Given the description of an element on the screen output the (x, y) to click on. 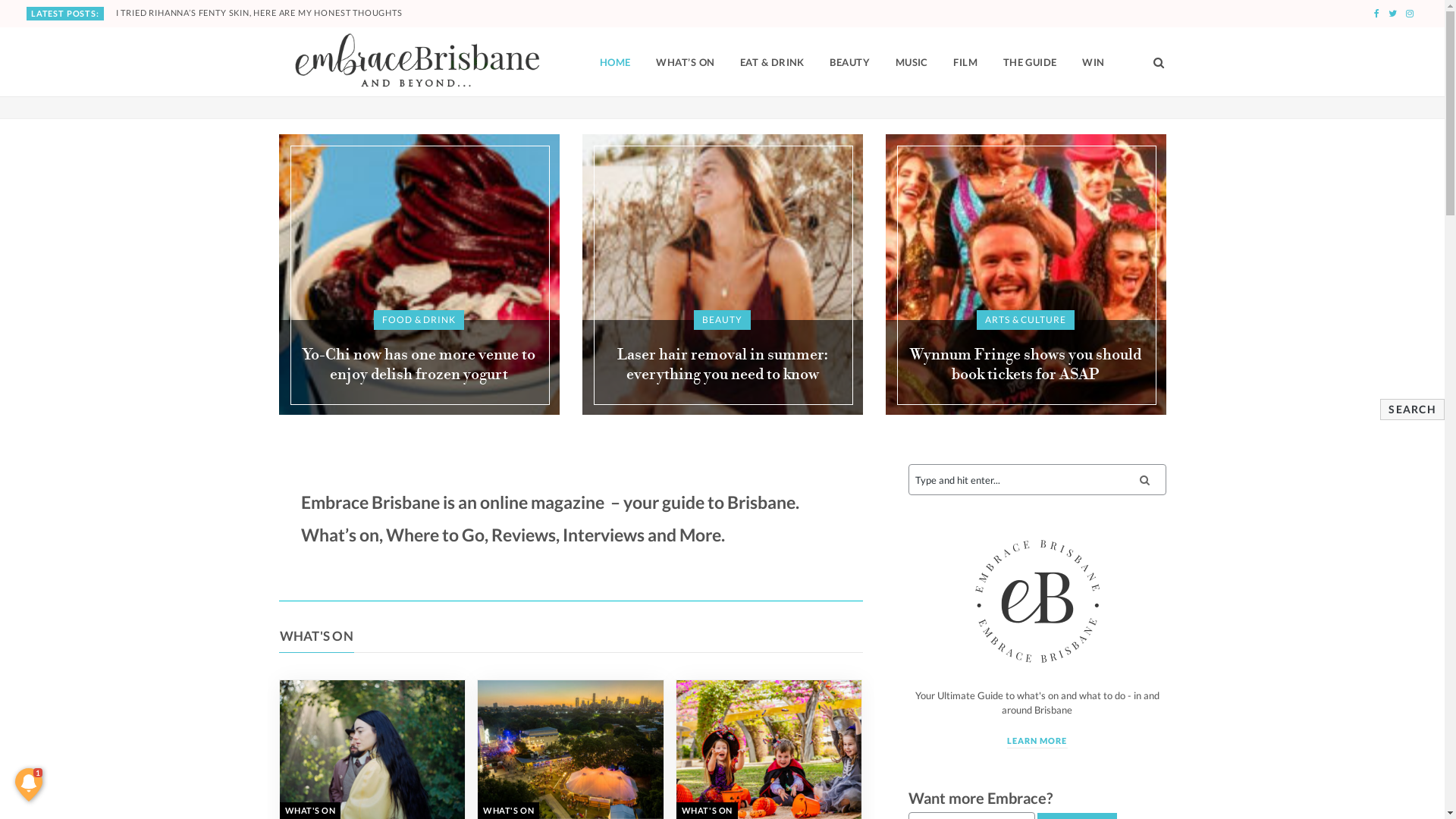
Wynnum Fringe shows you should book tickets for ASAP Element type: text (1025, 364)
Twitter Element type: text (1392, 13)
FILM Element type: text (964, 62)
WIN Element type: text (1092, 62)
FOOD & DRINK Element type: text (418, 319)
ARTS & CULTURE Element type: text (1025, 319)
Facebook Element type: text (1376, 13)
Instagram Element type: text (1409, 13)
Laser hair removal in summer: everything you need to know Element type: hover (722, 274)
SEARCH Element type: text (1412, 409)
LEARN MORE Element type: text (1037, 741)
Yo-Chi now has one more venue to enjoy delish frozen yogurt Element type: text (418, 364)
Laser hair removal in summer: everything you need to know Element type: text (722, 364)
BEAUTY Element type: text (849, 62)
WHAT'S ON Element type: text (316, 635)
HOME Element type: text (615, 62)
Search for: Element type: hover (1037, 479)
BEAUTY Element type: text (721, 319)
MUSIC Element type: text (911, 62)
Search Element type: hover (1153, 62)
EAT & DRINK Element type: text (771, 62)
THE GUIDE Element type: text (1029, 62)
Embrace Brisbane Element type: hover (415, 62)
